Given the description of an element on the screen output the (x, y) to click on. 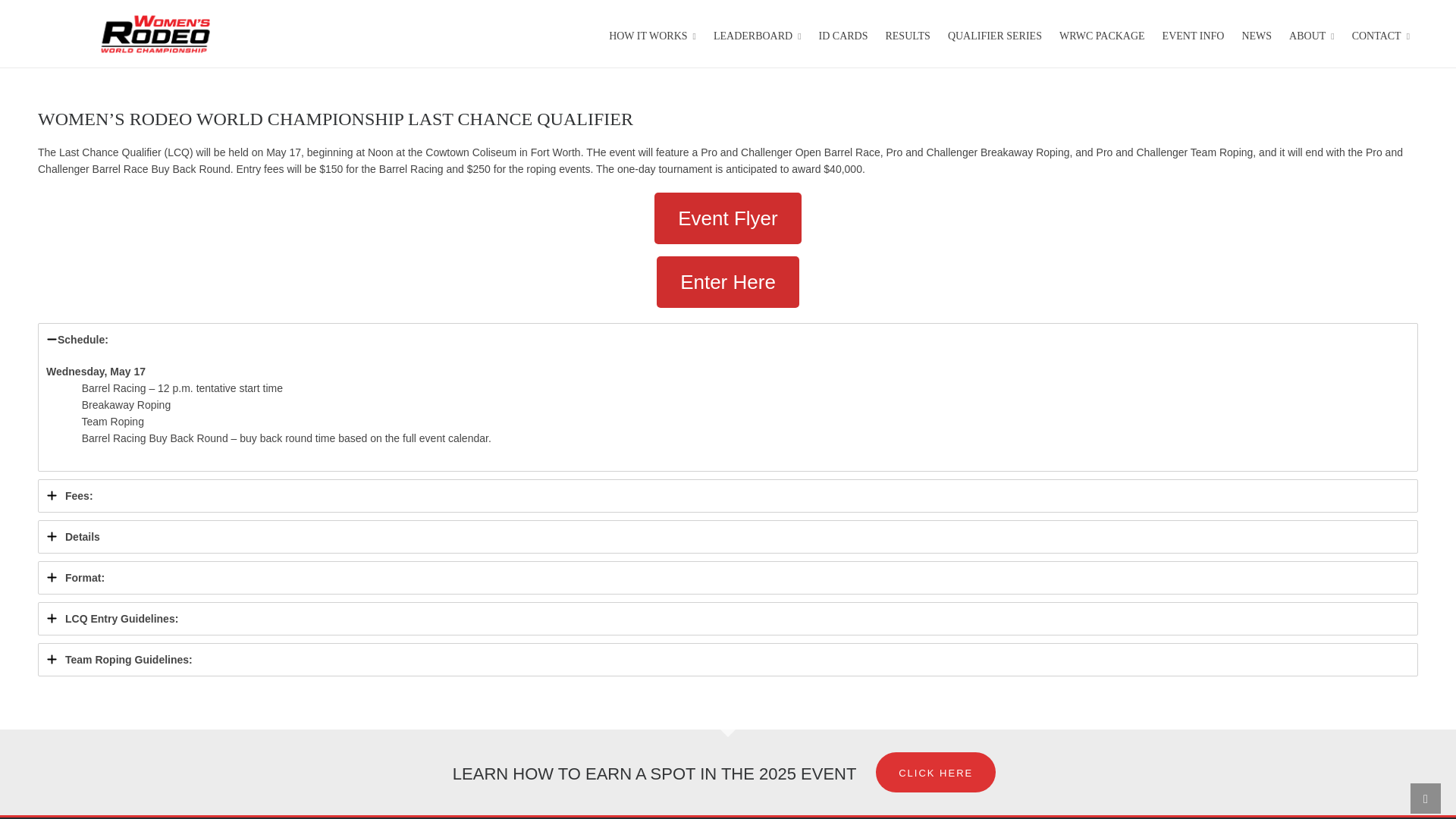
ID CARDS (843, 33)
QUALIFIER SERIES (994, 33)
WRWC PACKAGE (1102, 33)
EVENT INFO (1193, 33)
HOW IT WORKS (651, 33)
LEADERBOARD (756, 33)
ABOUT (1311, 33)
RESULTS (906, 33)
